Given the description of an element on the screen output the (x, y) to click on. 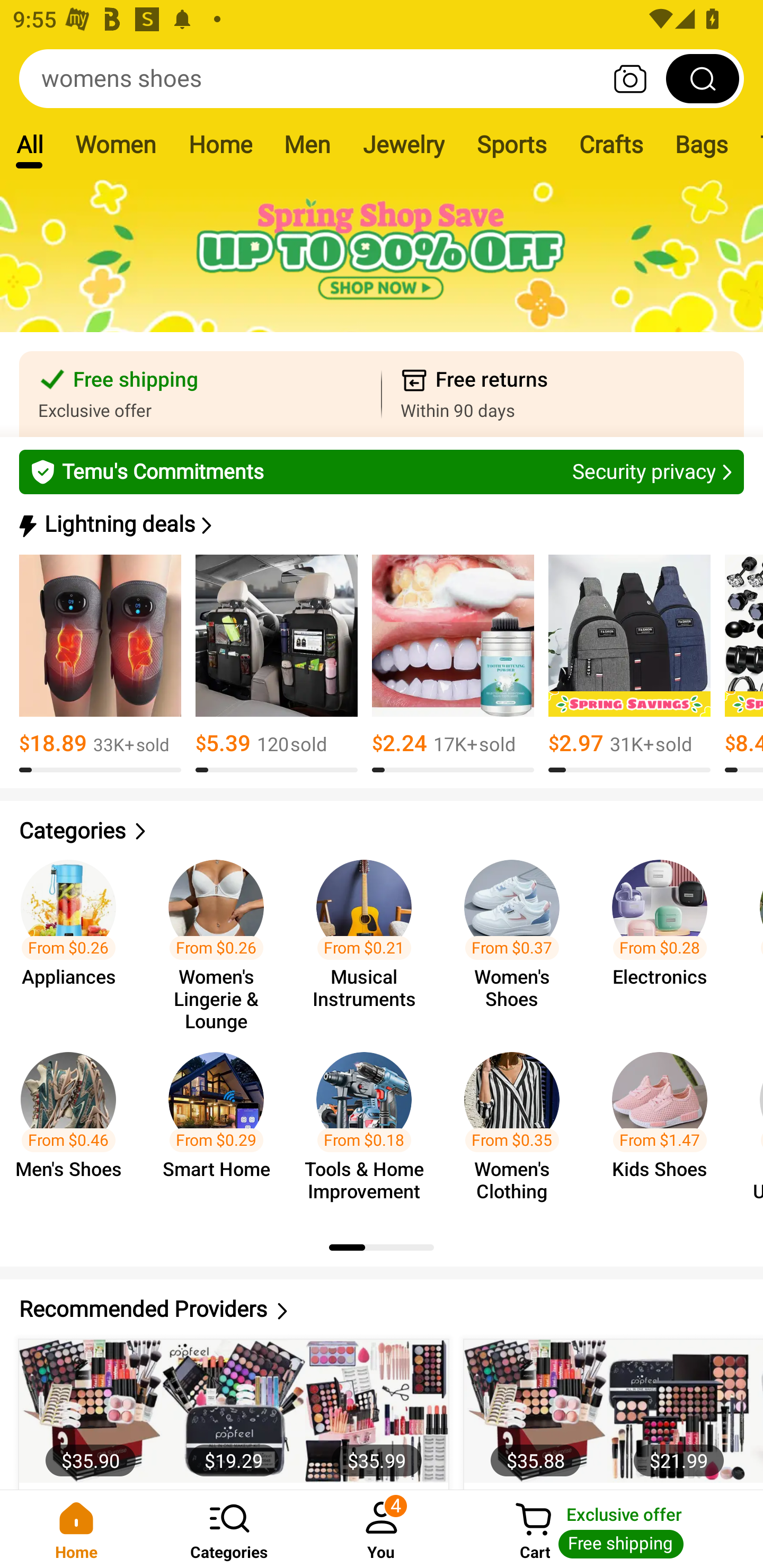
womens shoes (381, 78)
All (29, 144)
Women (115, 144)
Home (219, 144)
Men (306, 144)
Jewelry (403, 144)
Sports (511, 144)
Crafts (611, 144)
Bags (701, 144)
Free shipping Exclusive offer (200, 394)
Free returns Within 90 days (562, 394)
Temu's Commitments (381, 471)
Lightning deals (379, 524)
$18.89 33K+￼sold 8.0 (100, 664)
$5.39 120￼sold 8.0 (276, 664)
$2.24 17K+￼sold 8.0 (453, 664)
$2.97 31K+￼sold 11.0 (629, 664)
Categories (381, 830)
From $0.26 Appliances (74, 936)
From $0.26 Women's Lingerie & Lounge (222, 936)
From $0.21 Musical Instruments (369, 936)
From $0.37 Women's Shoes (517, 936)
From $0.28 Electronics (665, 936)
From $0.46 Men's Shoes (74, 1128)
From $0.29 Smart Home (222, 1128)
From $0.18 Tools & Home Improvement (369, 1128)
From $0.35 Women's Clothing (517, 1128)
From $1.47 Kids Shoes (665, 1128)
Recommended Providers (381, 1309)
Home (76, 1528)
Categories (228, 1528)
You 4 You (381, 1528)
Cart Cart Exclusive offer (610, 1528)
